Given the description of an element on the screen output the (x, y) to click on. 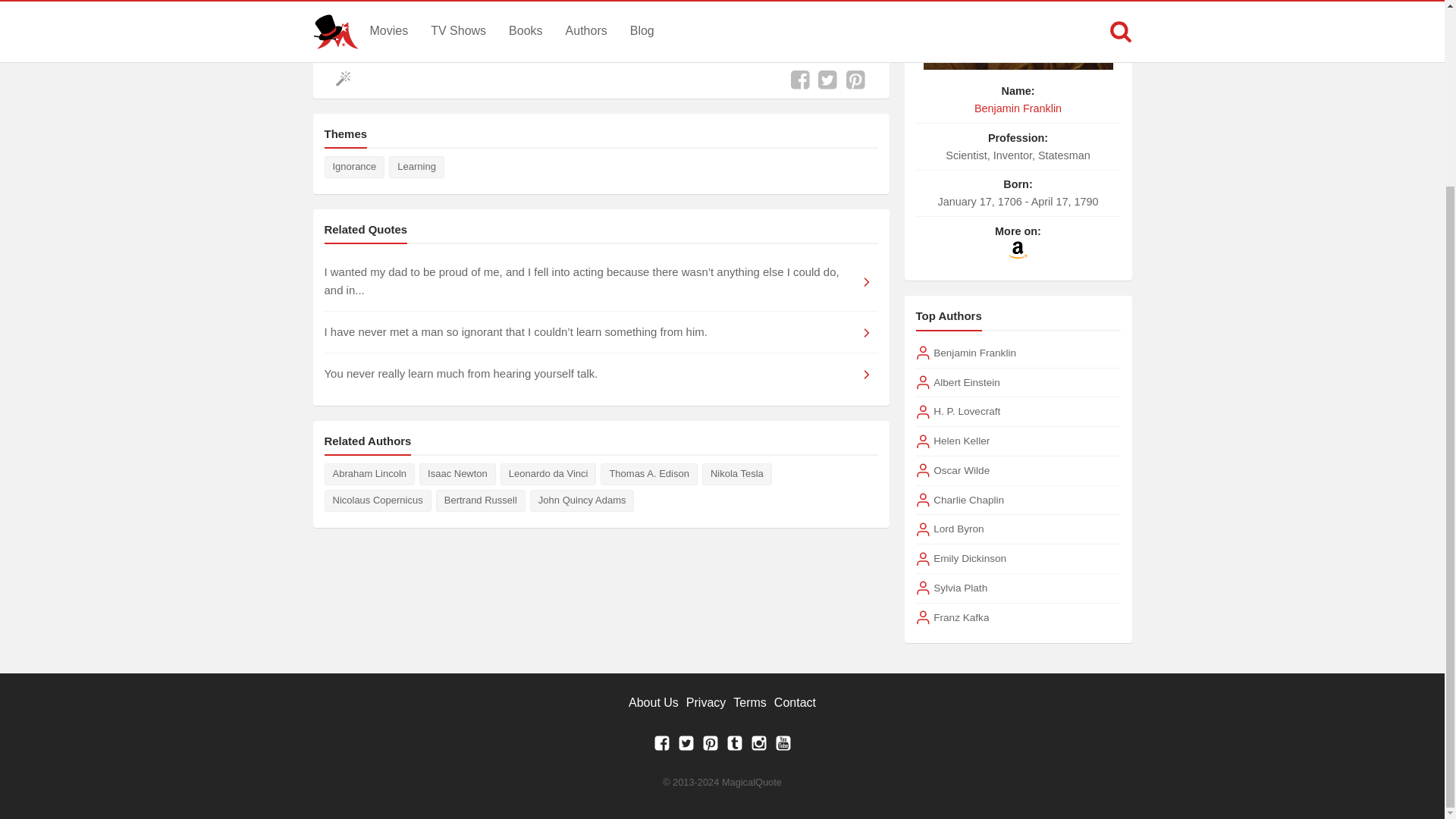
Learning (416, 167)
Pinterest (710, 747)
Helen Keller (961, 441)
Abraham Lincoln (369, 474)
Charlie Chaplin (968, 500)
Facebook (661, 747)
Ignorance (354, 167)
Bertrand Russell (480, 500)
Benjamin Franklin (1017, 108)
John Quincy Adams (581, 500)
Twitter (686, 747)
Nikola Tesla (736, 474)
Thomas A. Edison (648, 474)
Albert Einstein (966, 382)
You never really learn much from hearing yourself talk. (600, 372)
